Given the description of an element on the screen output the (x, y) to click on. 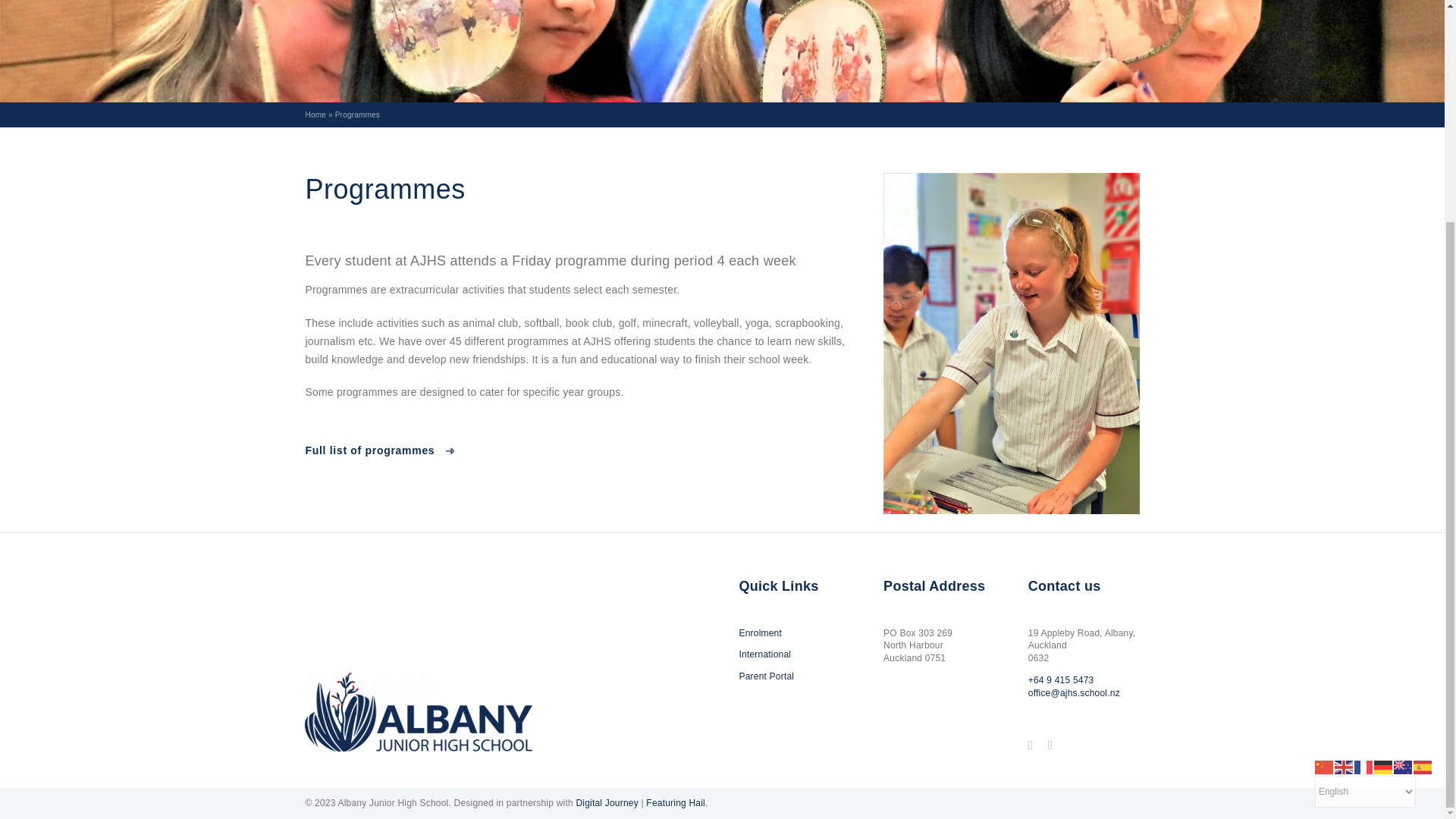
German (1383, 470)
Spanish (1422, 470)
English (1344, 470)
French (1364, 470)
Maori (1403, 470)
